Given the description of an element on the screen output the (x, y) to click on. 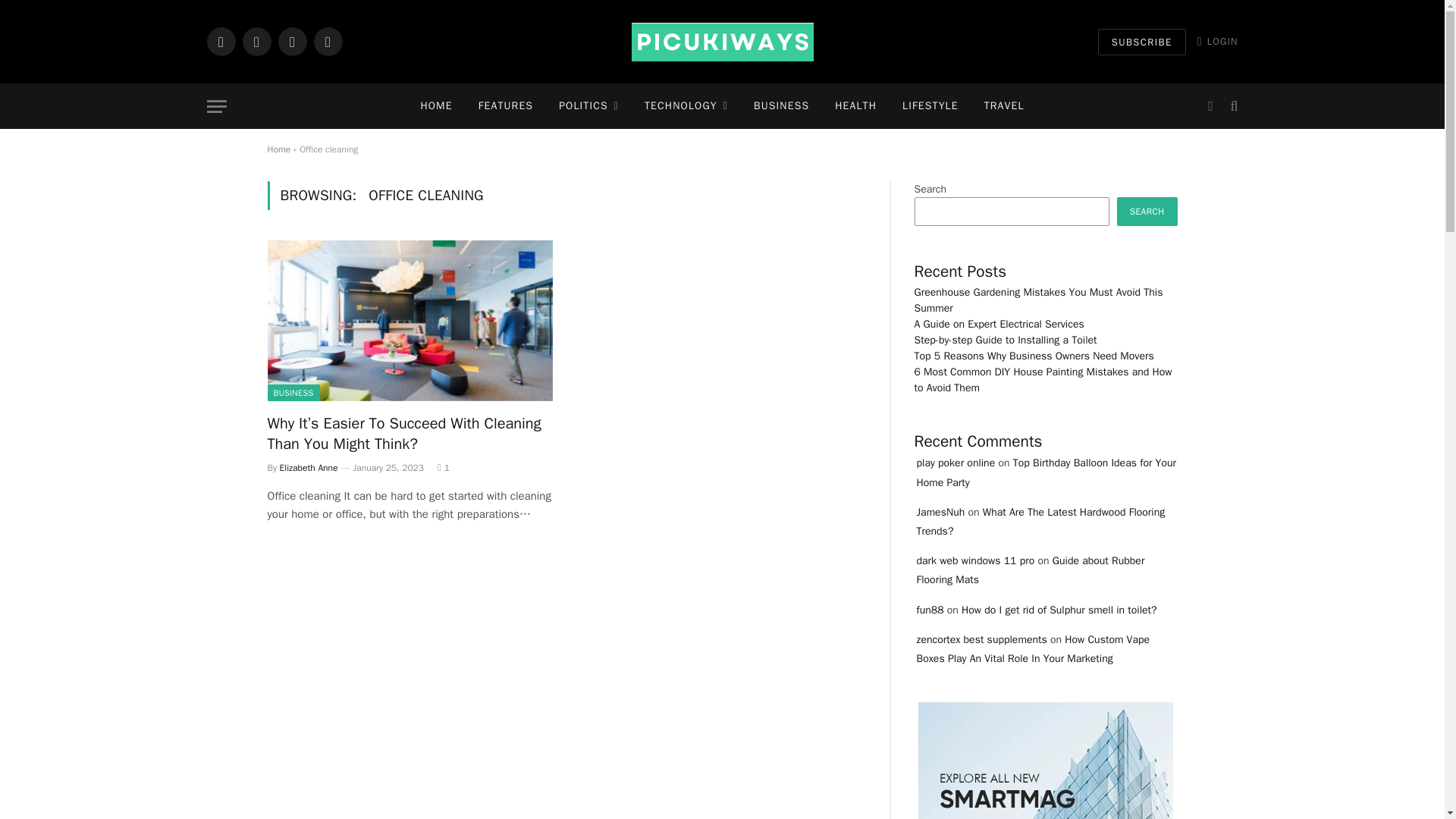
POLITICS (588, 105)
TECHNOLOGY (686, 105)
Switch to Dark Design - easier on eyes. (1209, 106)
Instagram (291, 41)
Picuki Ways (721, 41)
LOGIN (1217, 41)
Facebook (220, 41)
Vimeo (328, 41)
HEALTH (855, 105)
Twitter (256, 41)
